Given the description of an element on the screen output the (x, y) to click on. 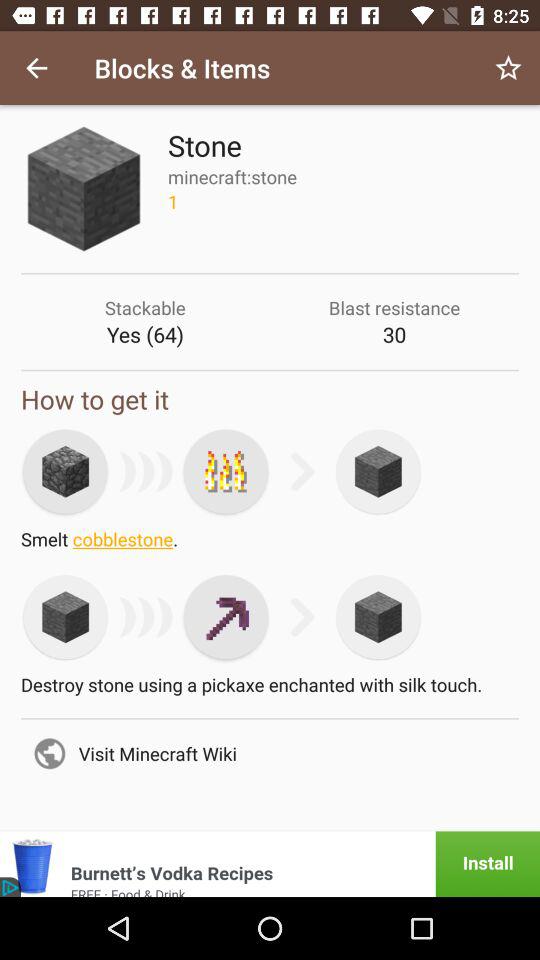
open destroy stone using item (270, 689)
